Given the description of an element on the screen output the (x, y) to click on. 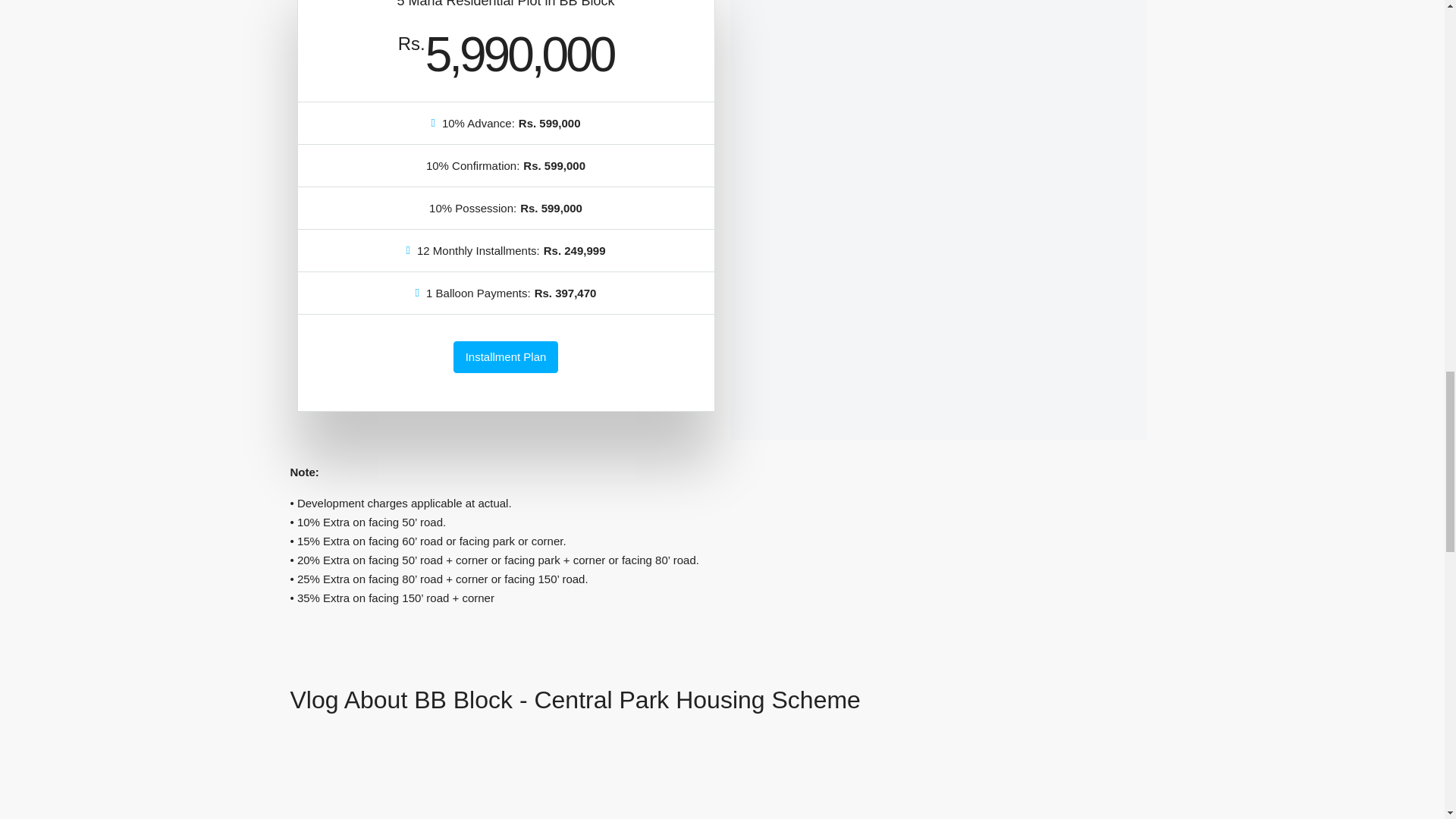
Installment Plan (505, 357)
